Given the description of an element on the screen output the (x, y) to click on. 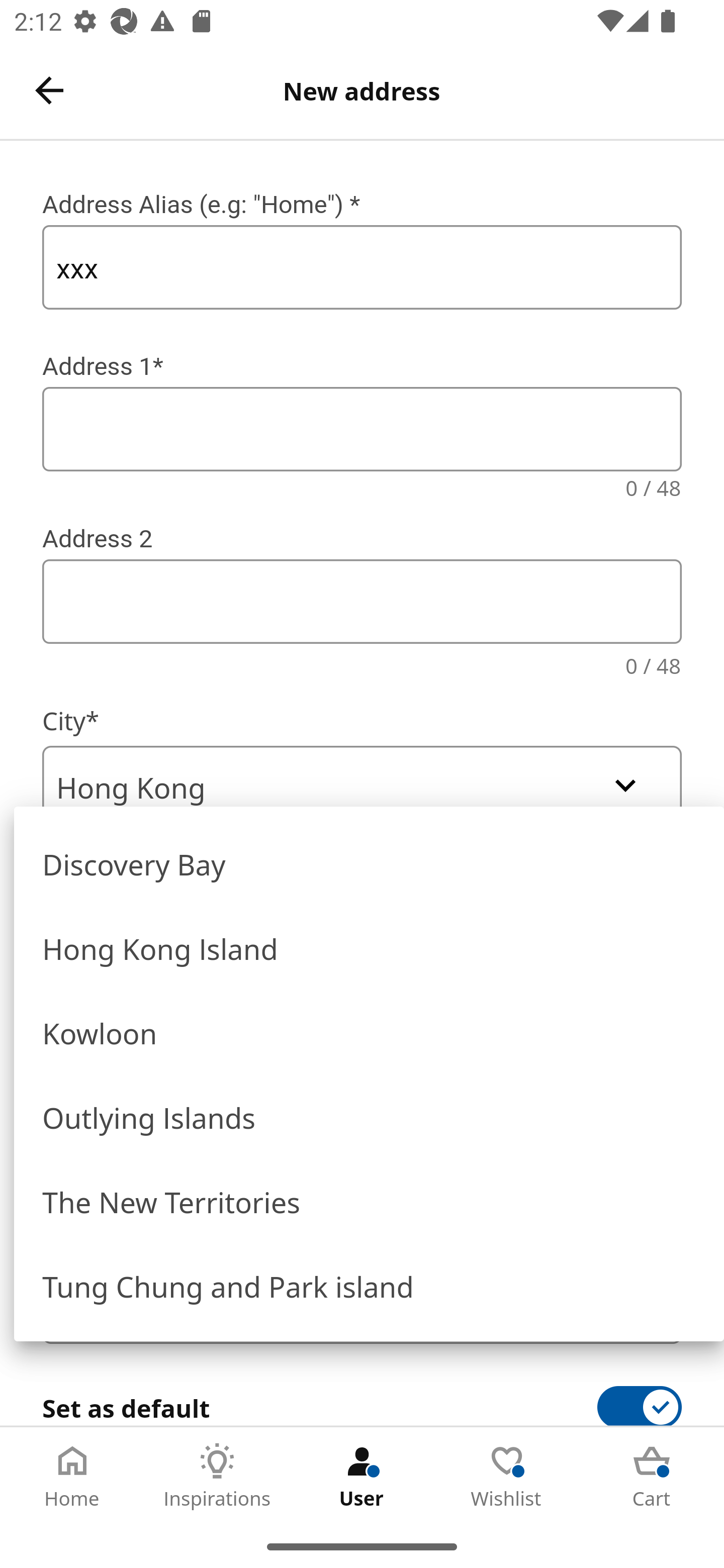
Discovery Bay (368, 862)
Hong Kong Island (368, 946)
Kowloon (368, 1031)
Outlying Islands (368, 1116)
The New Territories (368, 1200)
Tung Chung and Park island (368, 1284)
Home
Tab 1 of 5 (72, 1476)
Inspirations
Tab 2 of 5 (216, 1476)
User
Tab 3 of 5 (361, 1476)
Wishlist
Tab 4 of 5 (506, 1476)
Cart
Tab 5 of 5 (651, 1476)
